Given the description of an element on the screen output the (x, y) to click on. 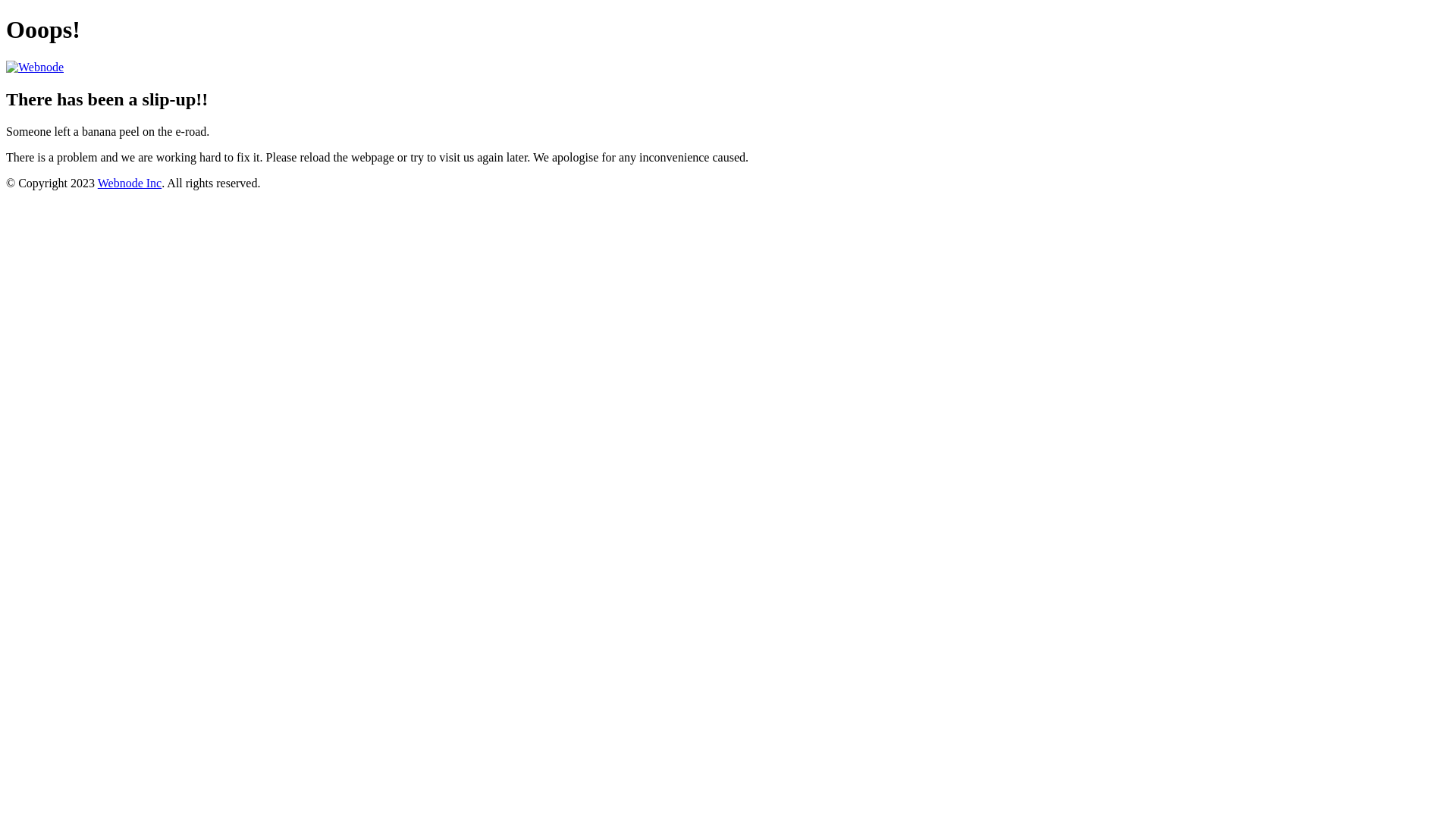
Webnode Inc Element type: text (129, 182)
